Given the description of an element on the screen output the (x, y) to click on. 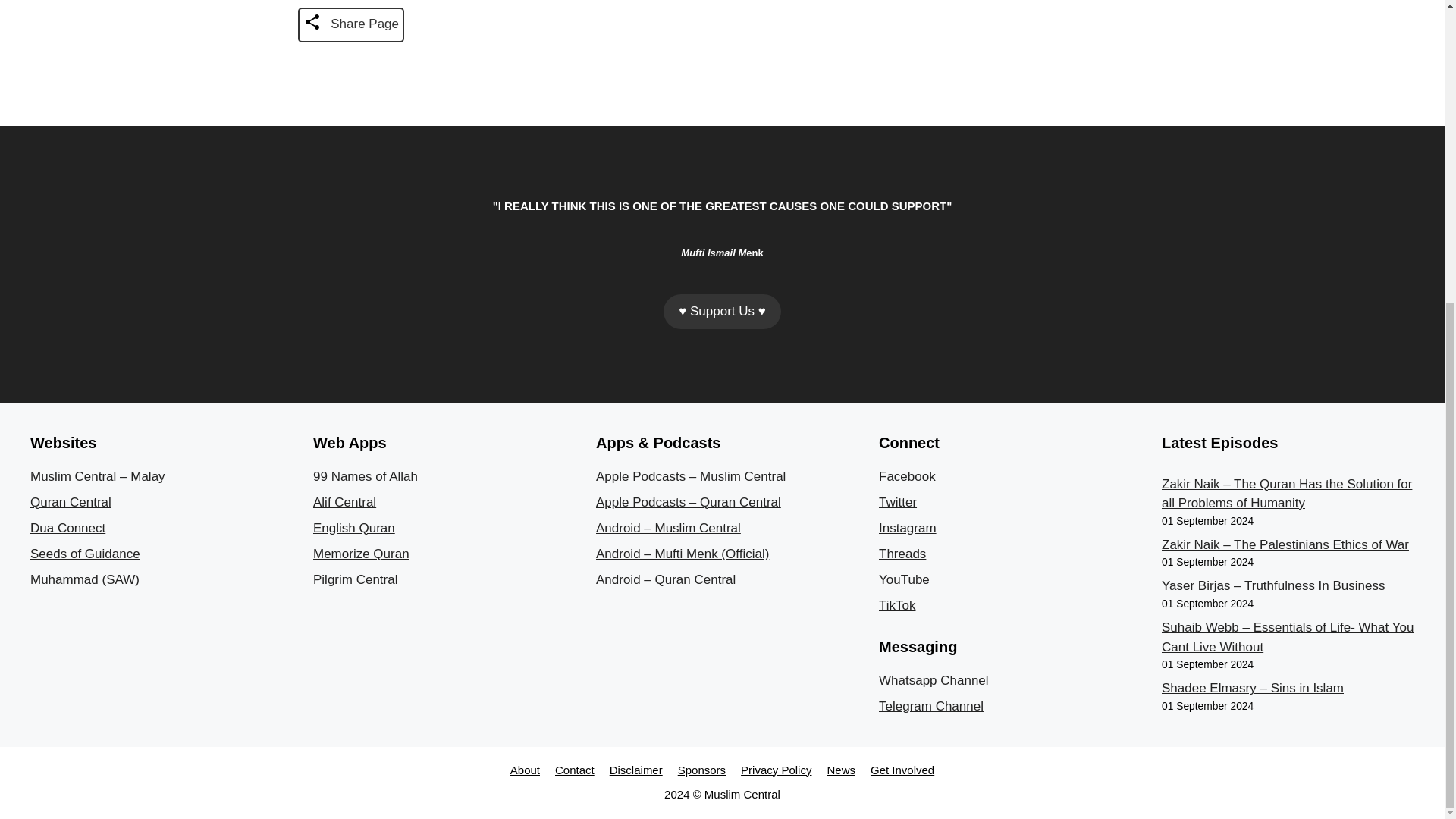
Pilgrim Central (355, 579)
Facebook (907, 476)
Alif Central (344, 502)
English Quran (353, 527)
Quran Central (71, 502)
Seeds of Guidance (84, 554)
Memorize Quran (361, 554)
Dua Connect (67, 527)
99 Names of Allah (365, 476)
